Given the description of an element on the screen output the (x, y) to click on. 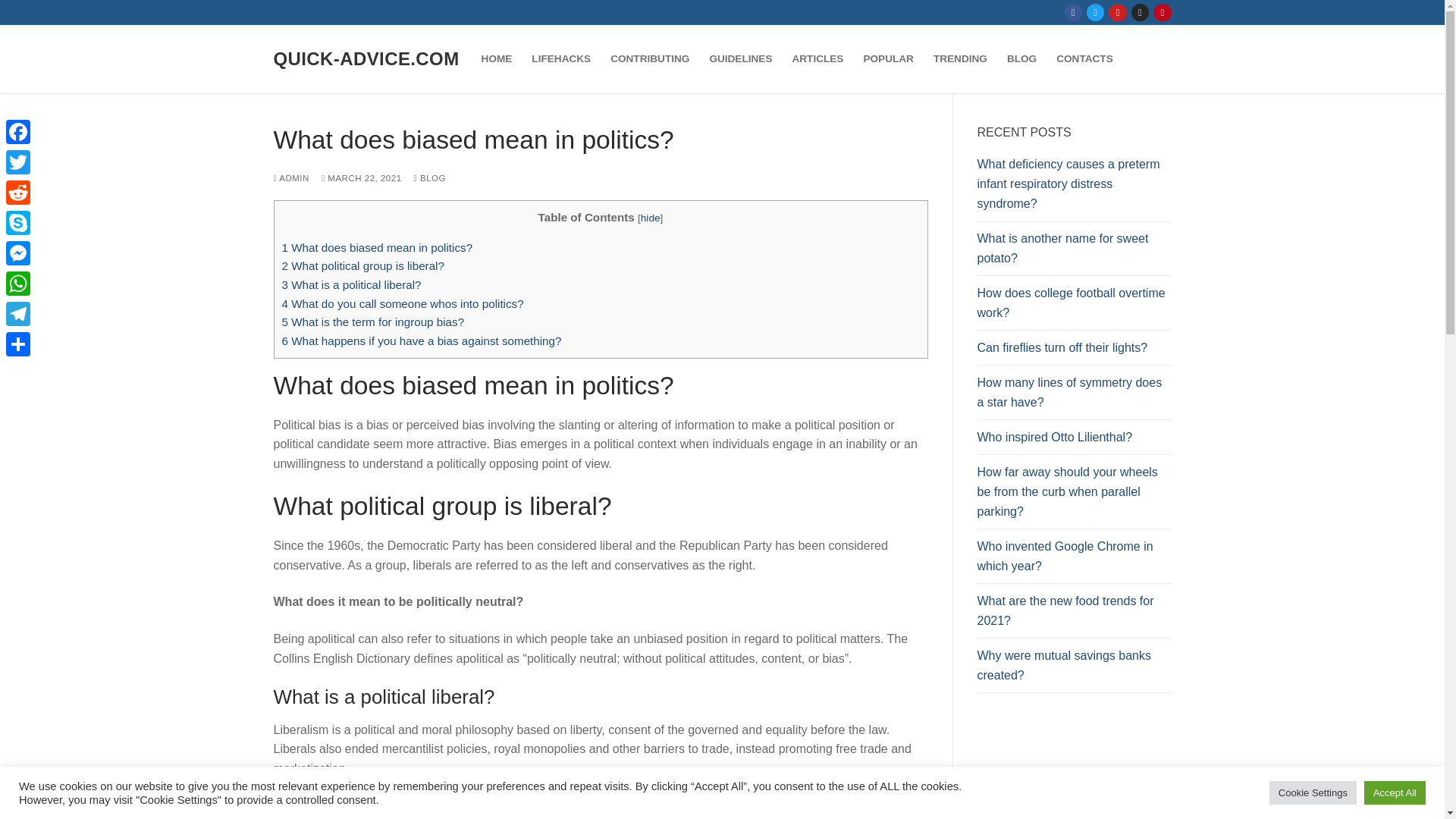
1 What does biased mean in politics? (377, 246)
5 What is the term for ingroup bias? (373, 321)
QUICK-ADVICE.COM (365, 58)
2 What political group is liberal? (363, 265)
3 What is a political liberal? (352, 284)
Pinterest (1162, 12)
CONTRIBUTING (648, 59)
HOME (496, 59)
LIFEHACKS (560, 59)
ADMIN (290, 177)
BLOG (429, 177)
BLOG (1021, 59)
MARCH 22, 2021 (361, 177)
CONTACTS (1084, 59)
6 What happens if you have a bias against something? (422, 340)
